Given the description of an element on the screen output the (x, y) to click on. 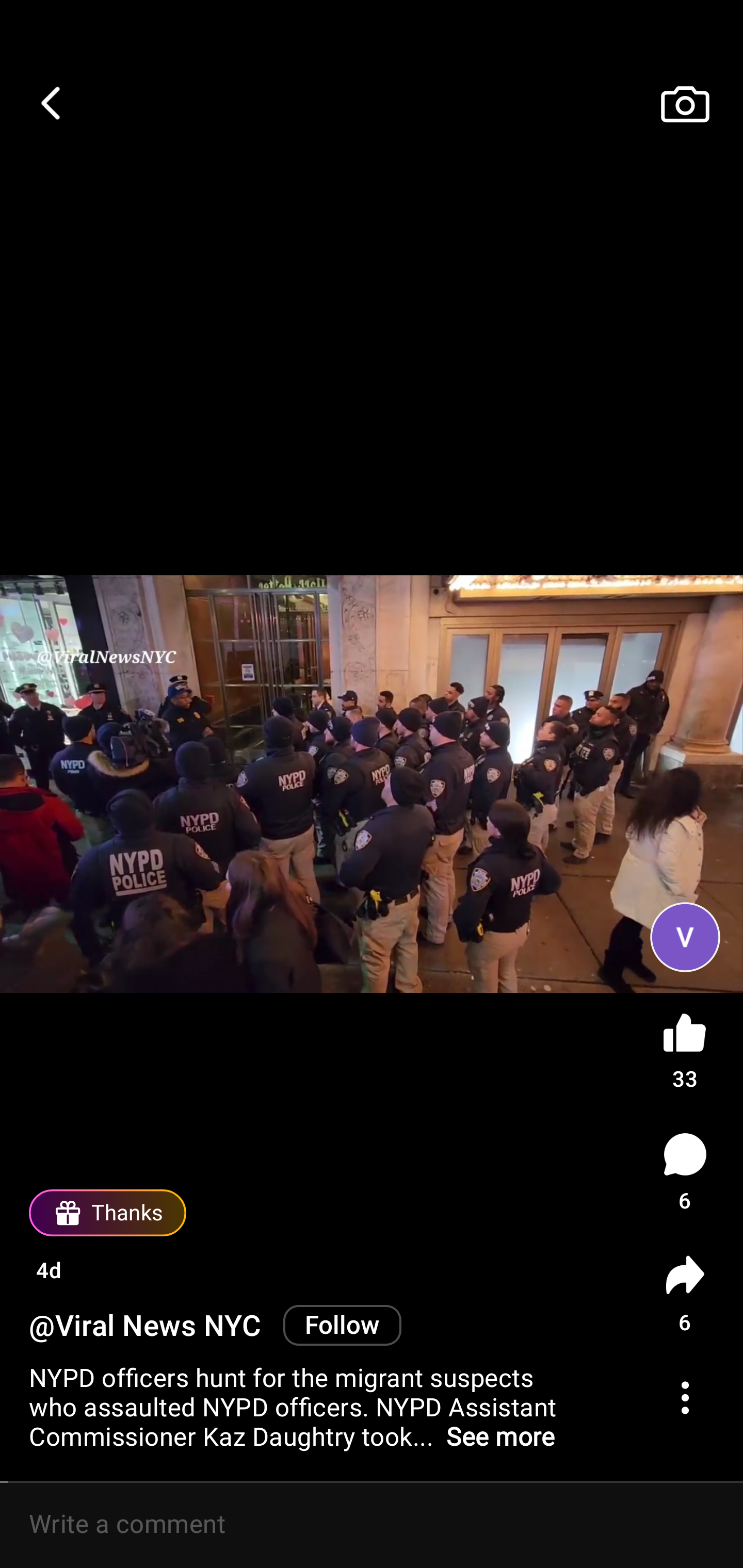
33 (684, 1046)
6 (684, 1171)
Thanks (107, 1212)
6 (684, 1293)
Follow (342, 1324)
@Viral News NYC  (148, 1326)
Write a comment (371, 1524)
